Given the description of an element on the screen output the (x, y) to click on. 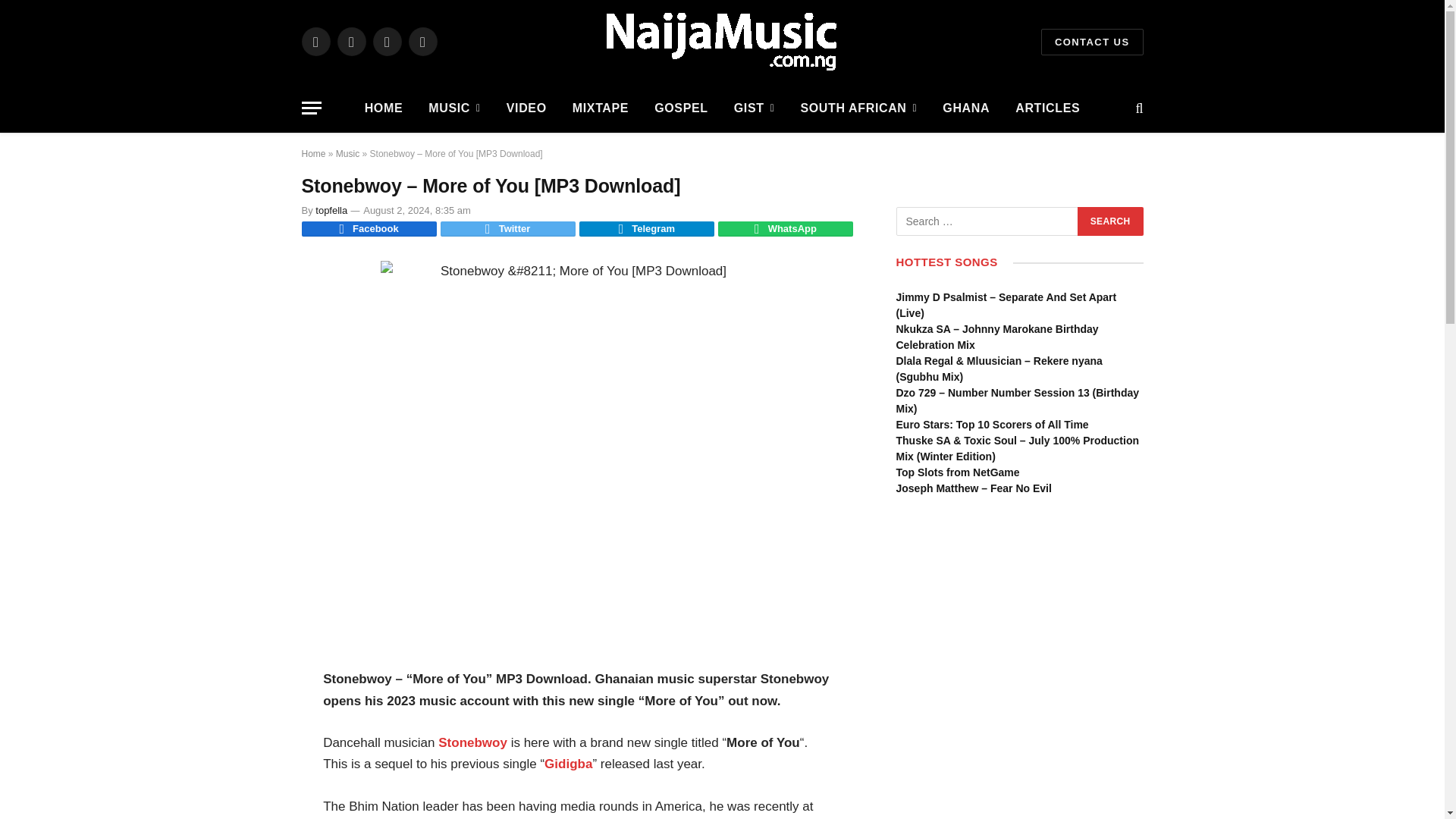
Home (313, 153)
Stonebwoy (472, 742)
Music (347, 153)
YouTube (421, 41)
Share on Twitter (508, 228)
WhatsApp (785, 228)
Twitter (508, 228)
Search (1109, 221)
MIXTAPE (600, 107)
GOSPEL (681, 107)
topfella (331, 210)
Share on Telegram (646, 228)
CONTACT US (1091, 41)
Gidigba (568, 763)
Facebook (315, 41)
